Given the description of an element on the screen output the (x, y) to click on. 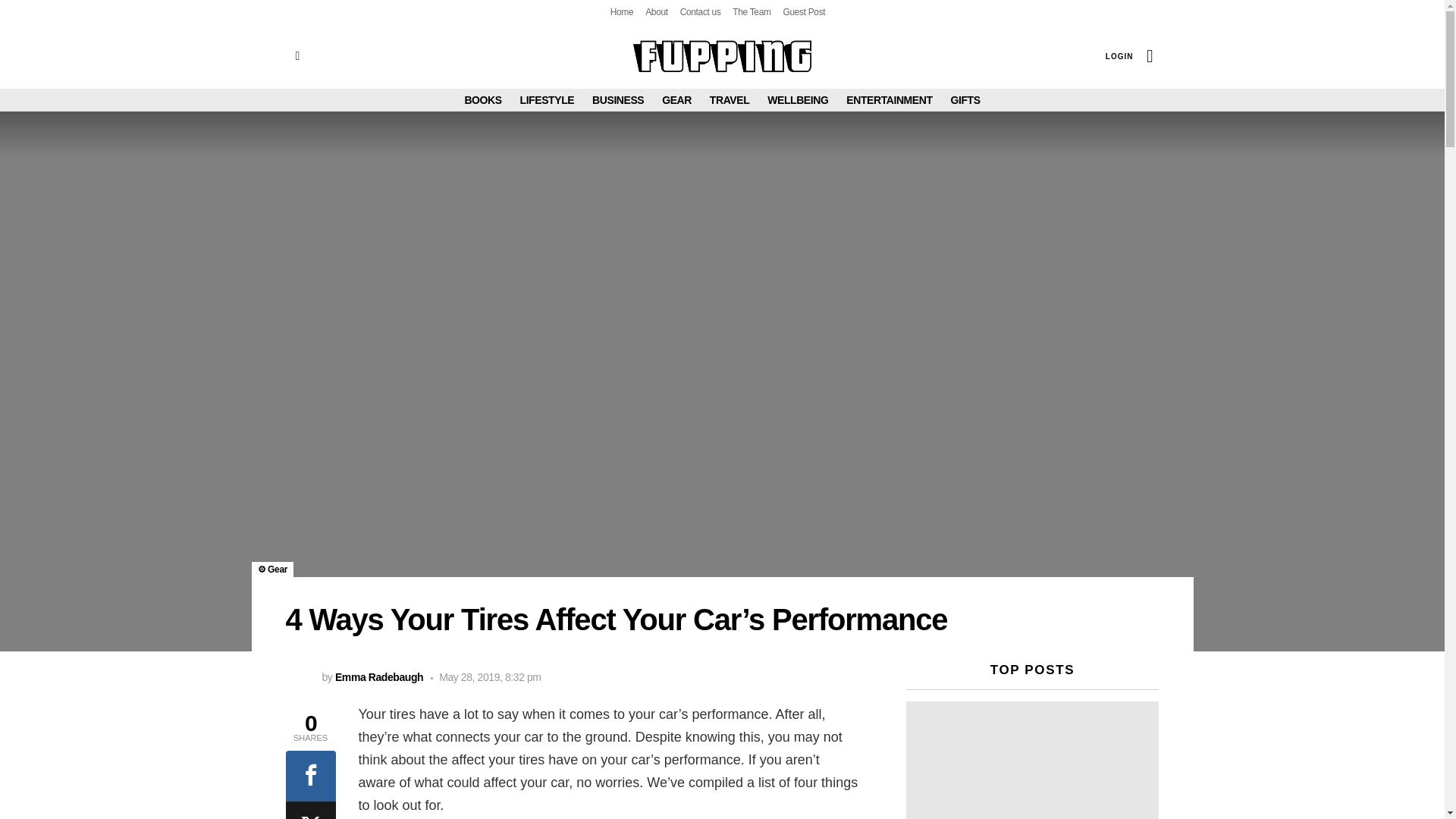
GIFTS (964, 99)
Emma Radebaugh (378, 676)
BOOKS (482, 99)
LIFESTYLE (547, 99)
LOGIN (1119, 56)
Guest Post (804, 12)
TRAVEL (729, 99)
WELLBEING (797, 99)
Contact us (699, 12)
GEAR (675, 99)
